Given the description of an element on the screen output the (x, y) to click on. 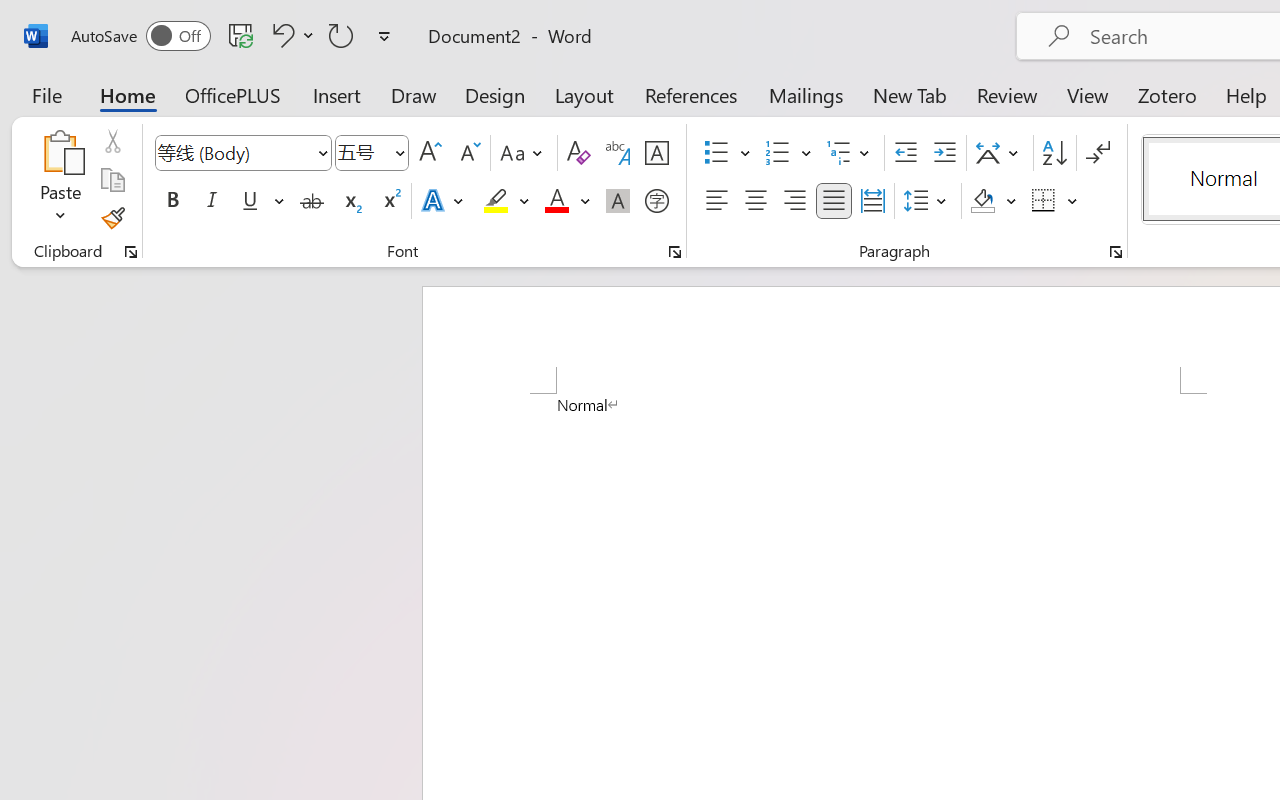
Clear Recording (412, 114)
Outline (401, 194)
